Given the description of an element on the screen output the (x, y) to click on. 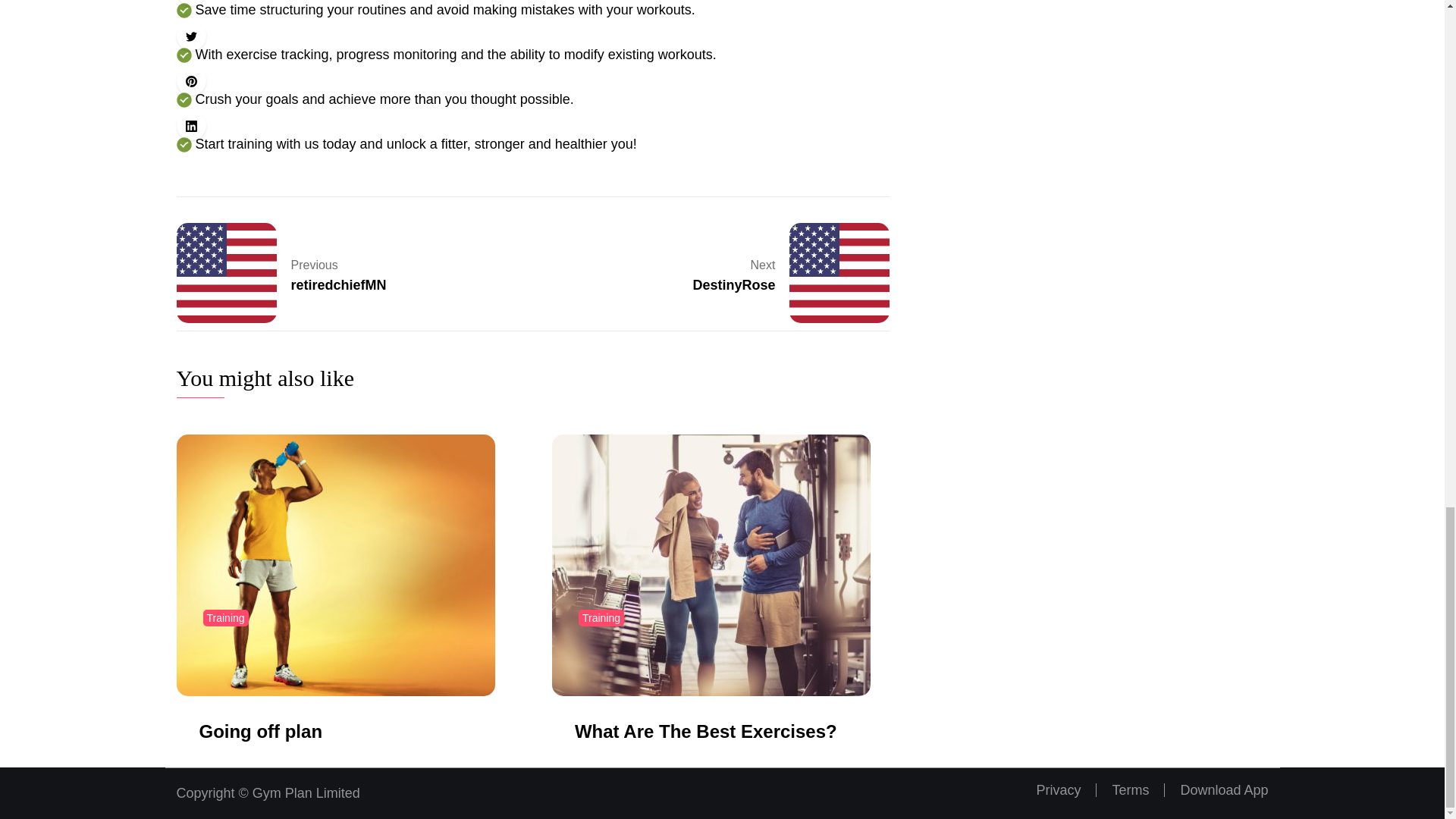
Going off plan (259, 731)
Training (294, 272)
